Given the description of an element on the screen output the (x, y) to click on. 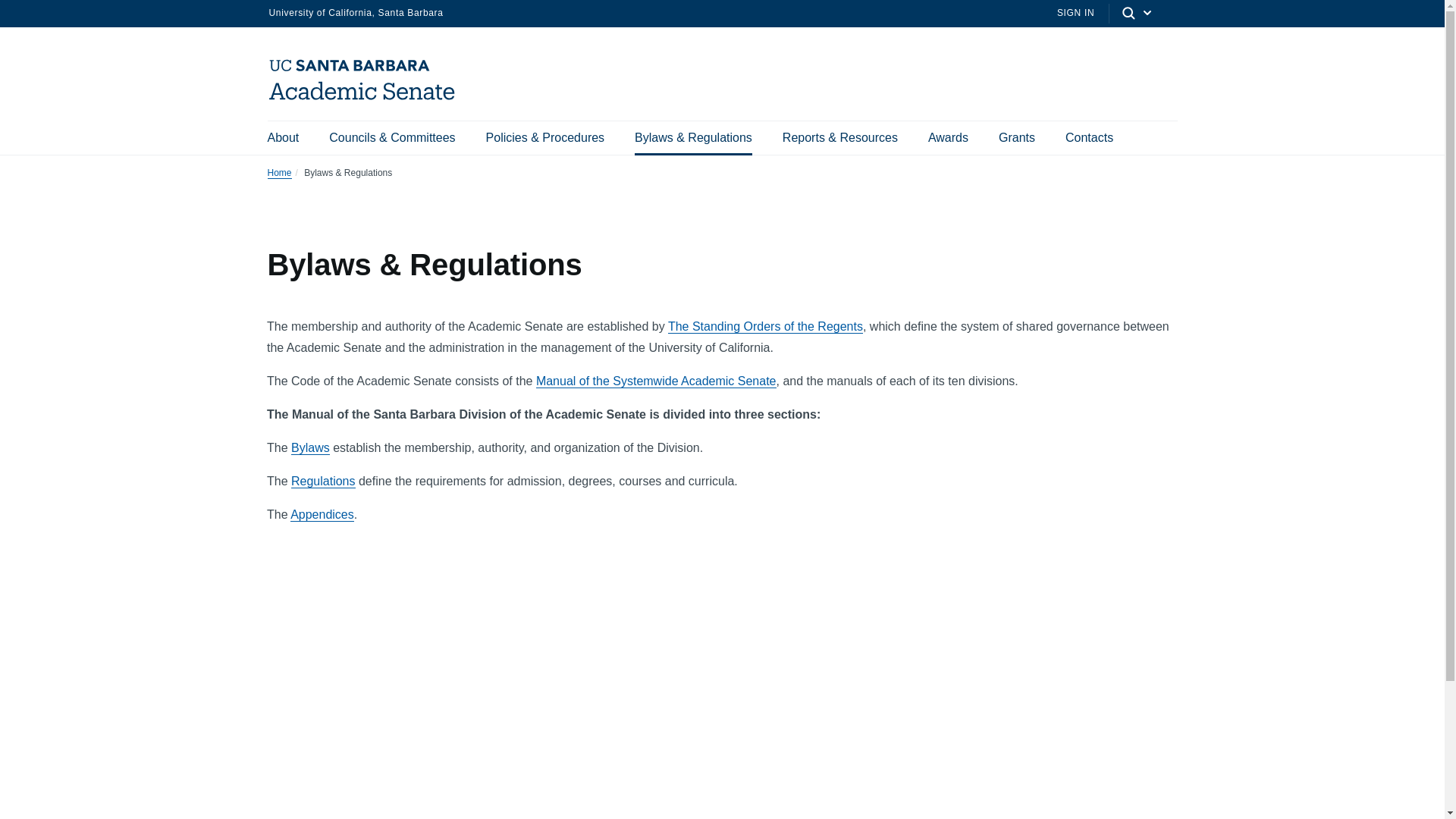
Contacts (1089, 137)
Bylaws (310, 448)
SIGN IN (1075, 12)
University of California, Santa Barbara (354, 12)
About (282, 137)
Awards (948, 137)
The Standing Orders of the Regents (765, 326)
Home (278, 173)
Manual of the Systemwide Academic Senate (655, 381)
Grants (1016, 137)
Home (366, 98)
